Given the description of an element on the screen output the (x, y) to click on. 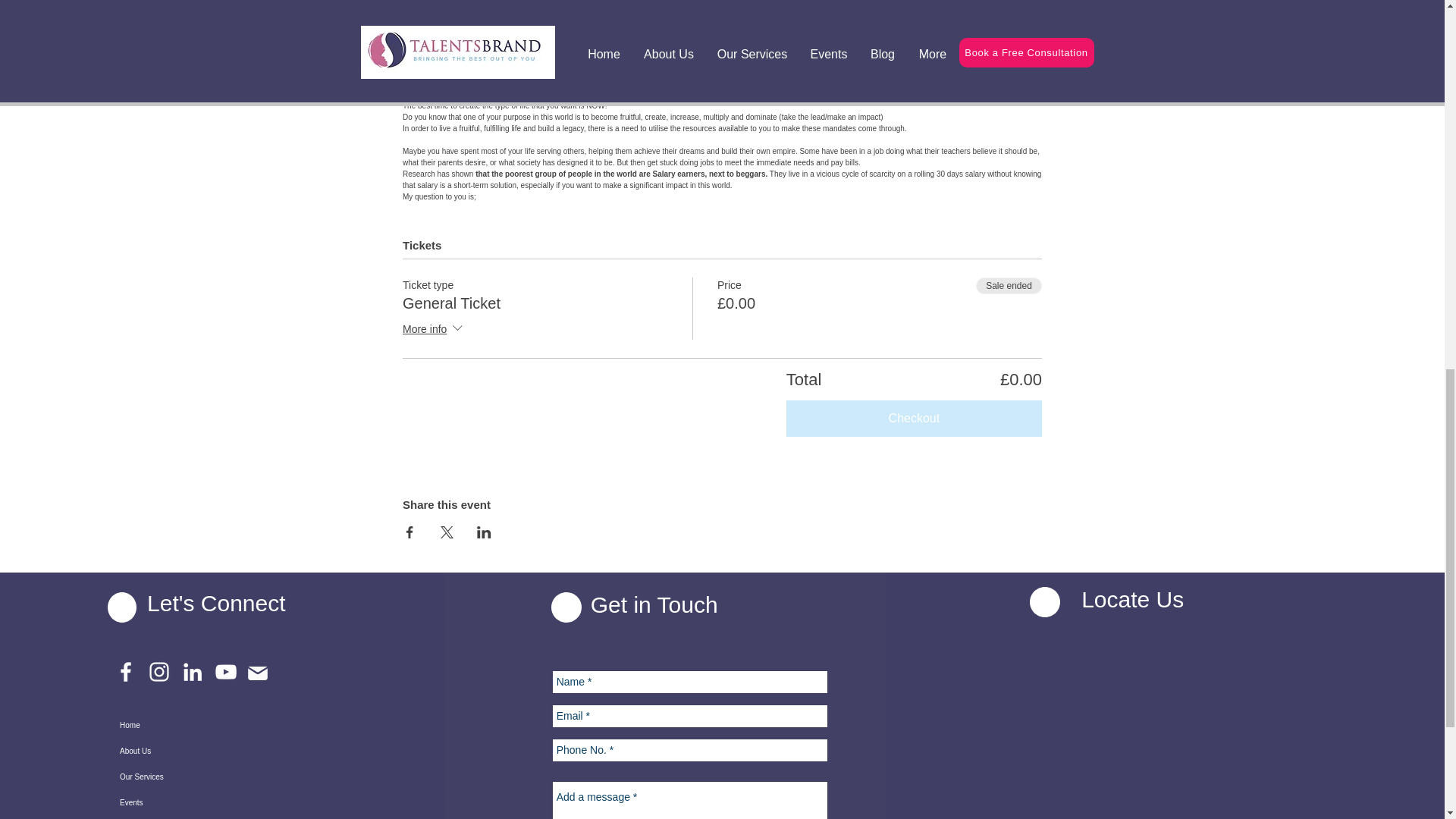
About Us (192, 751)
Home (192, 725)
Checkout (914, 418)
More info (434, 329)
